Given the description of an element on the screen output the (x, y) to click on. 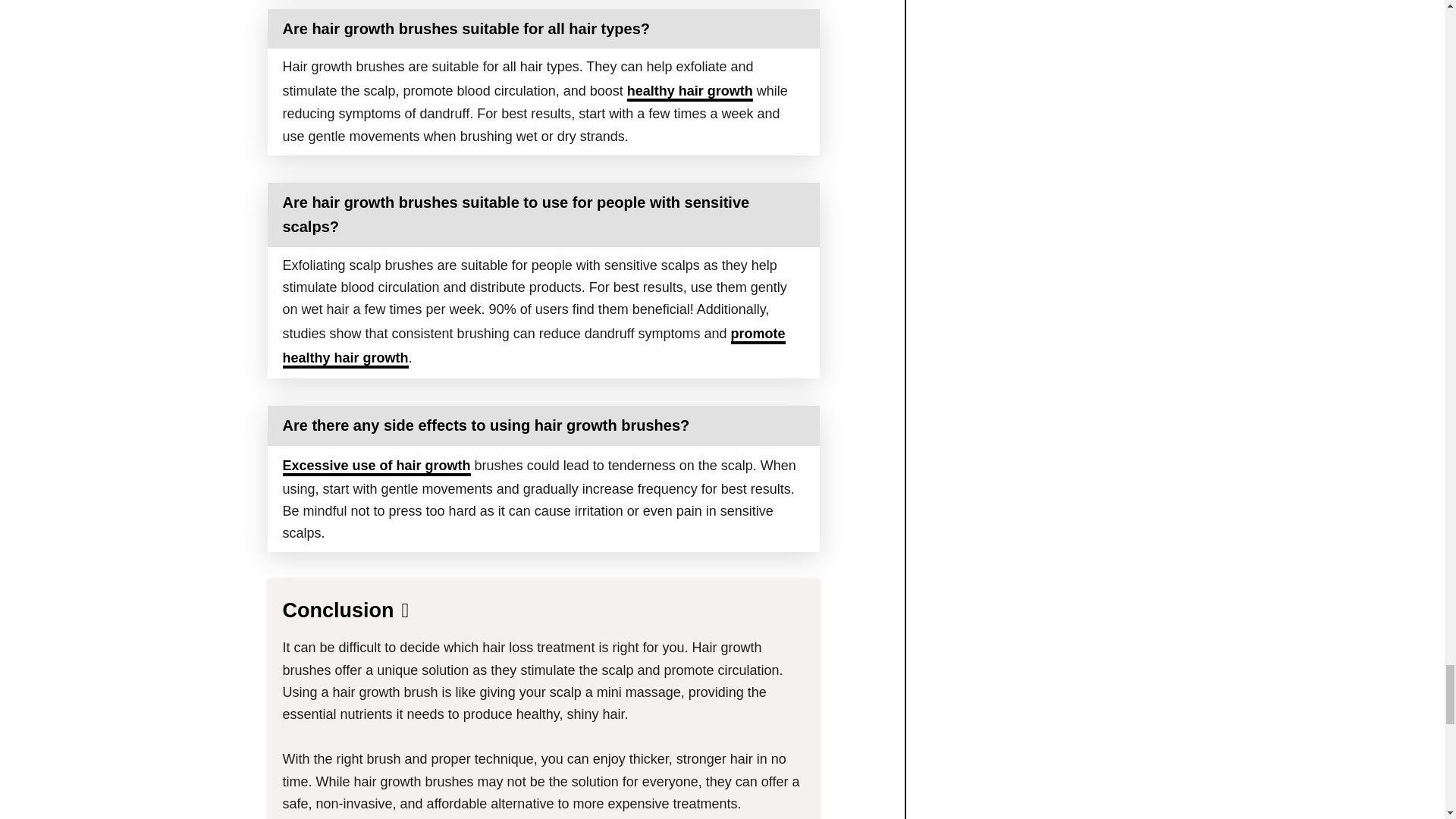
healthy hair growth (689, 92)
promote healthy hair growth (533, 347)
